Given the description of an element on the screen output the (x, y) to click on. 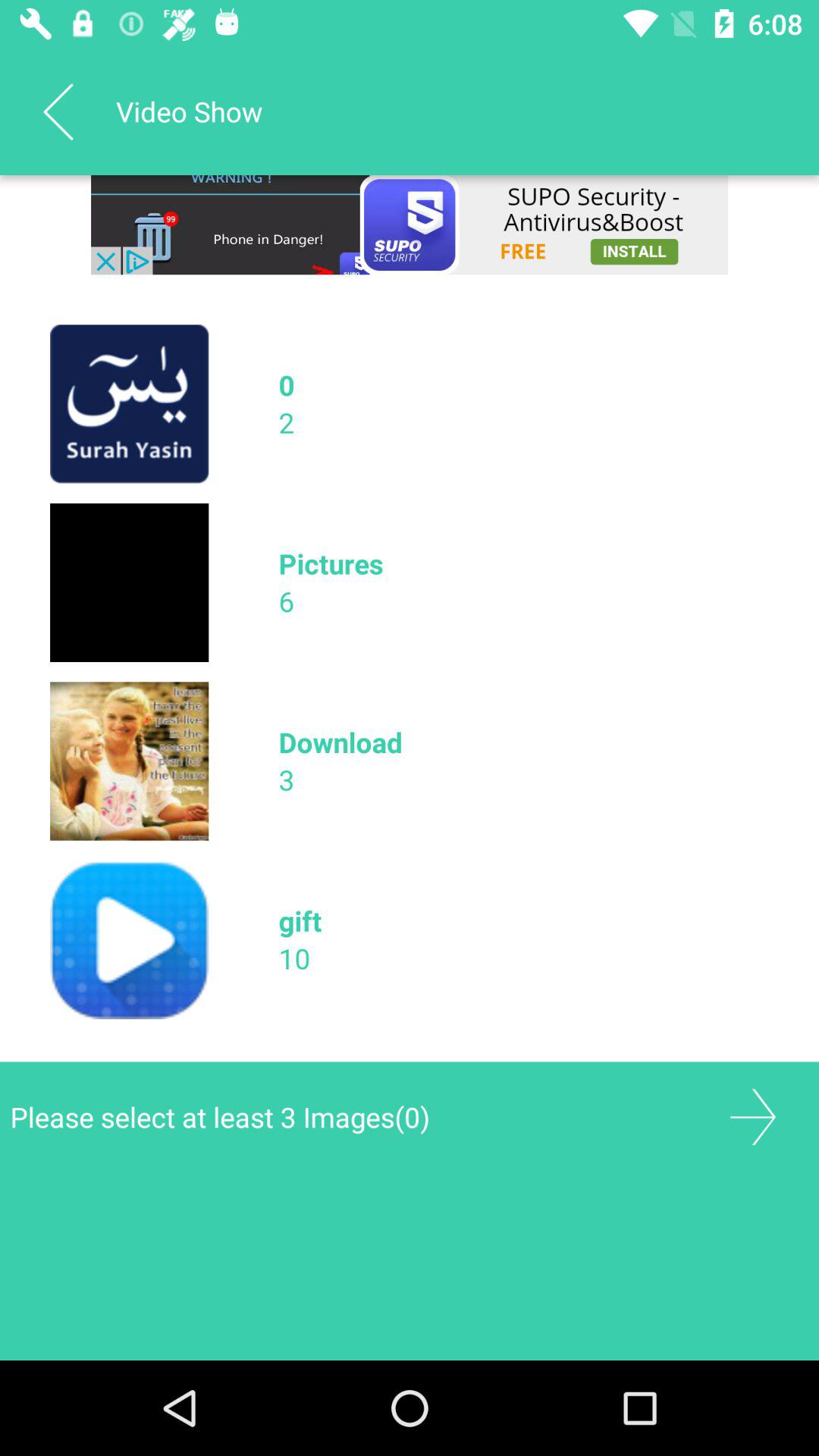
go to back button (752, 1116)
